Given the description of an element on the screen output the (x, y) to click on. 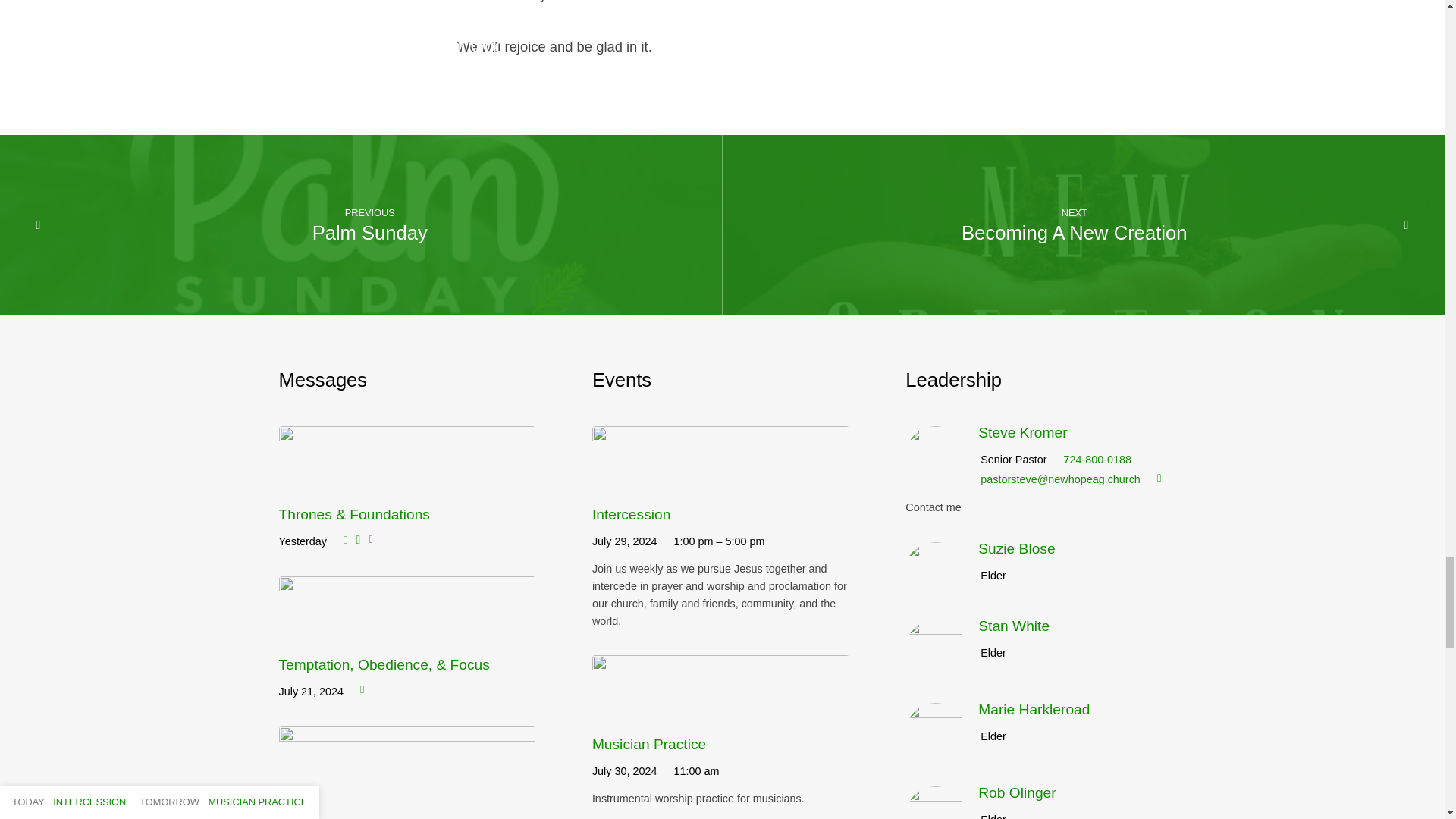
Grace (407, 779)
Grace (298, 812)
